Given the description of an element on the screen output the (x, y) to click on. 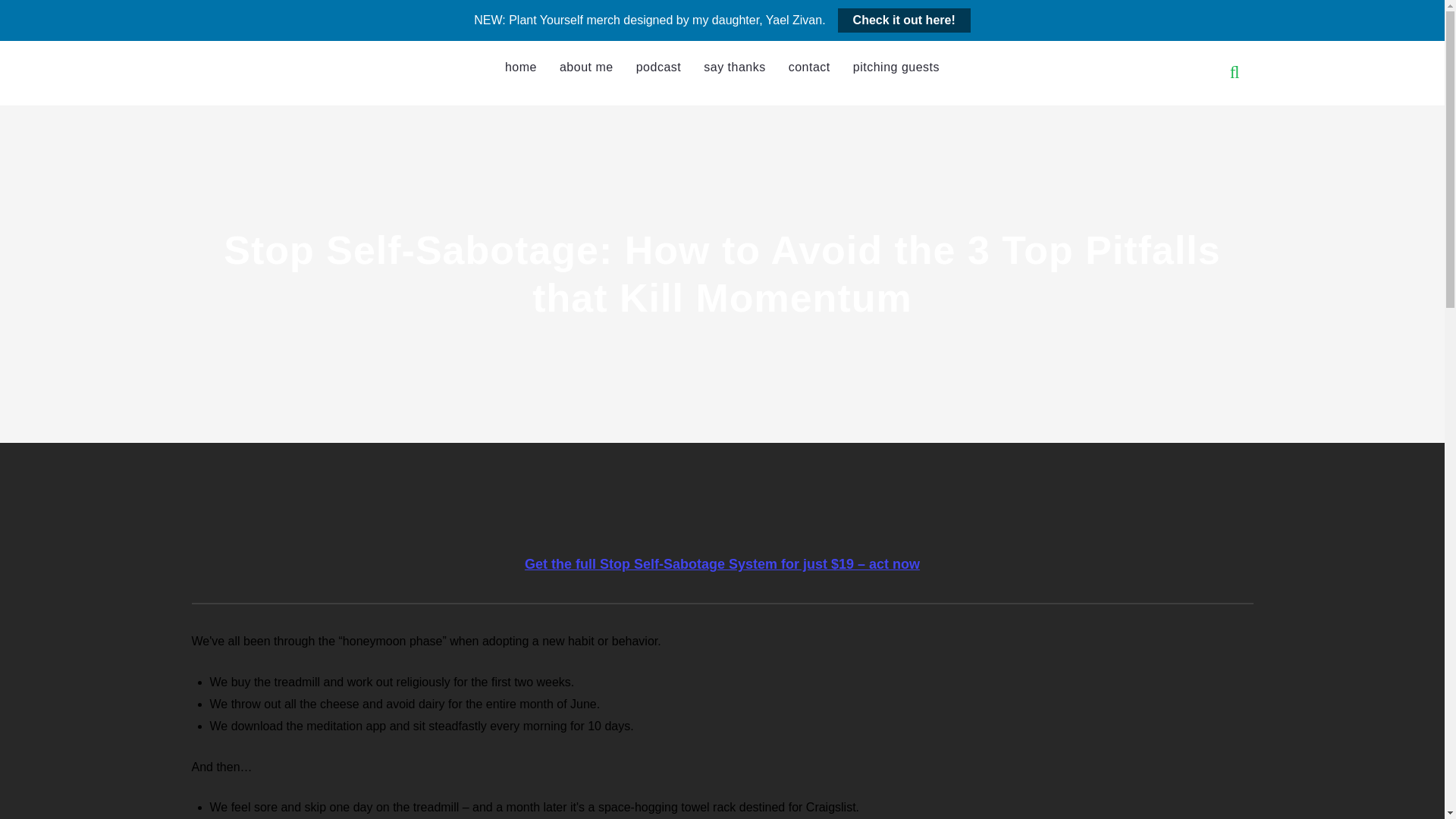
contact (809, 67)
pitching guests (895, 67)
Submit (34, 24)
Check it out here! (904, 20)
home (520, 67)
say thanks (734, 67)
about me (586, 67)
podcast (658, 67)
